Given the description of an element on the screen output the (x, y) to click on. 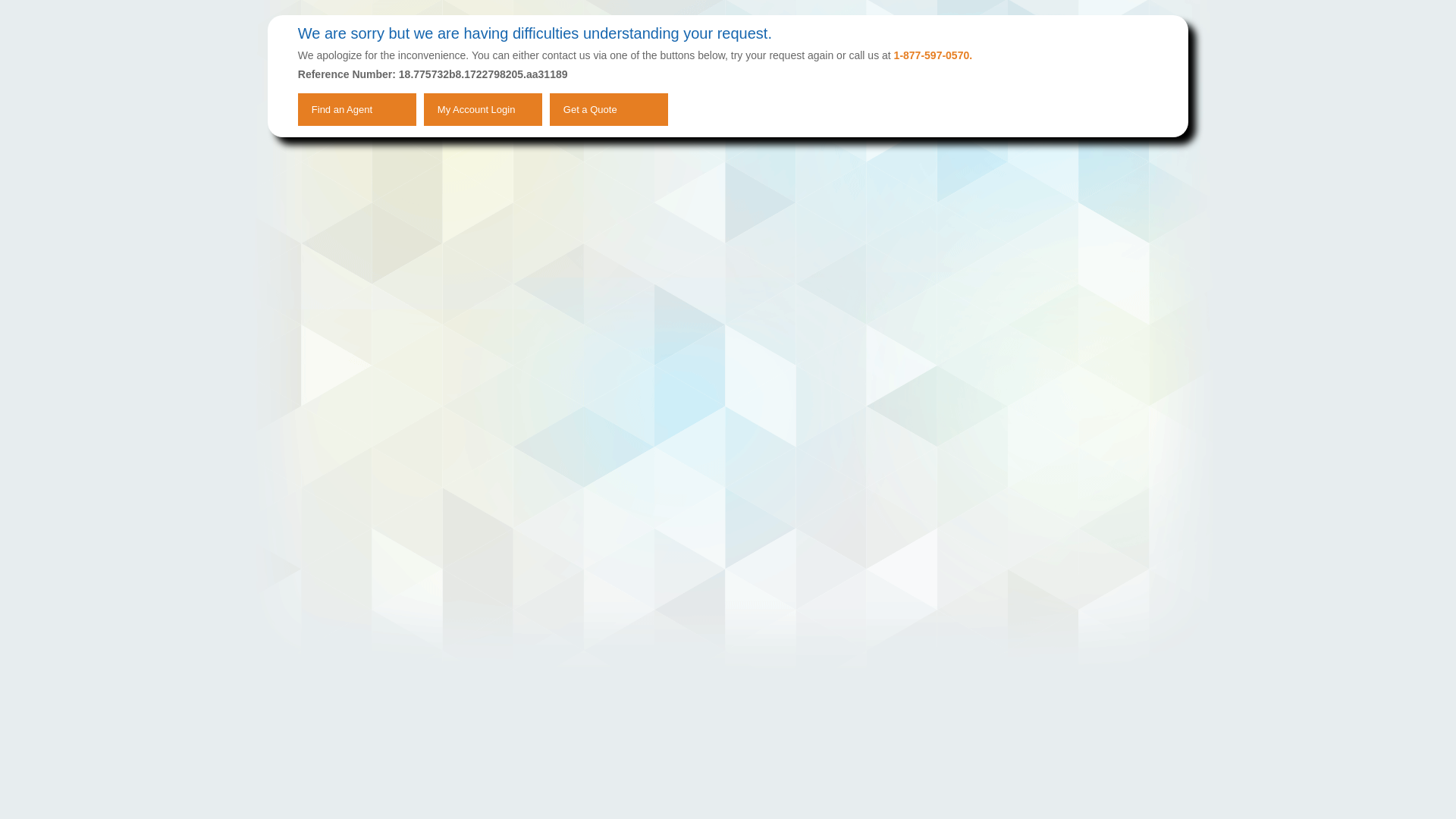
My Account Login (482, 109)
Get a Quote (609, 109)
Find an Agent (357, 109)
1-877-597-0570. (932, 55)
